Given the description of an element on the screen output the (x, y) to click on. 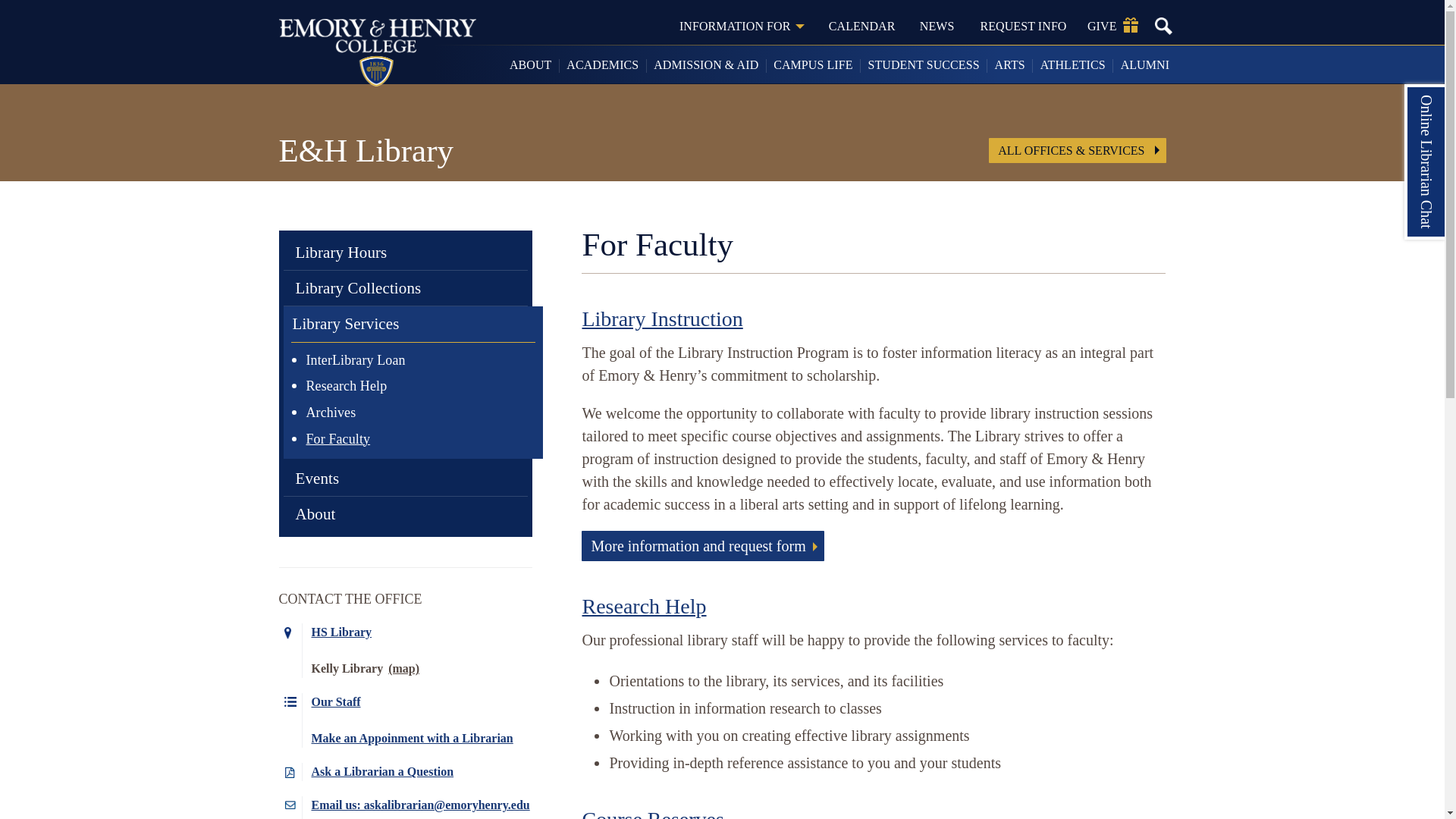
ARTS (1010, 64)
NEWS (937, 25)
STUDENT SUCCESS (924, 64)
Research Help (643, 606)
More information and request form (702, 545)
ABOUT (531, 64)
Course Reserves (651, 813)
CALENDAR (861, 25)
ACADEMICS (603, 64)
GIVE (1111, 25)
ALUMNI (1144, 64)
INFORMATION FOR (741, 25)
ATHLETICS (1072, 64)
Library Instruction (661, 318)
REQUEST INFO (1022, 25)
